Given the description of an element on the screen output the (x, y) to click on. 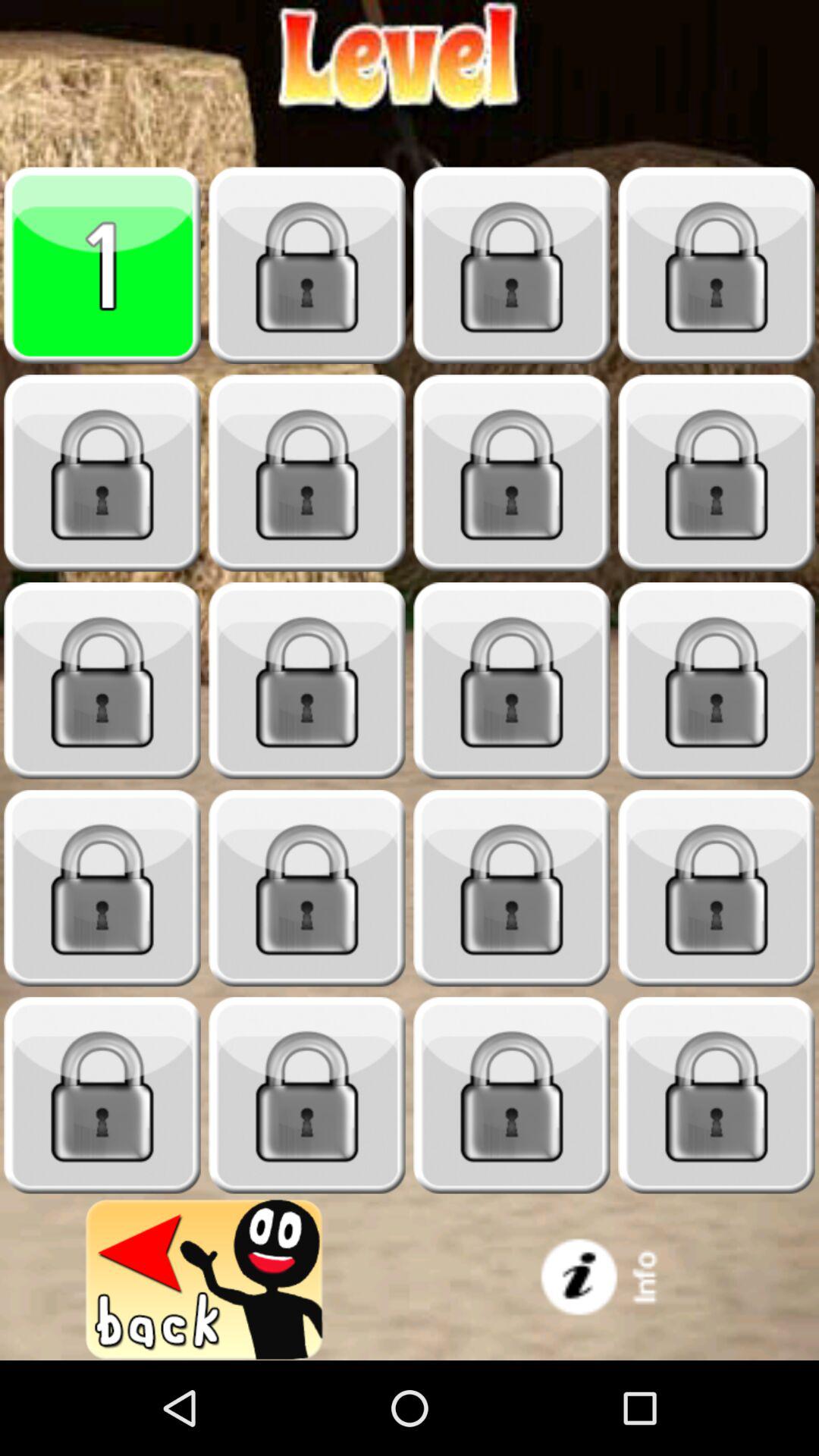
lock 16 (306, 1094)
